Given the description of an element on the screen output the (x, y) to click on. 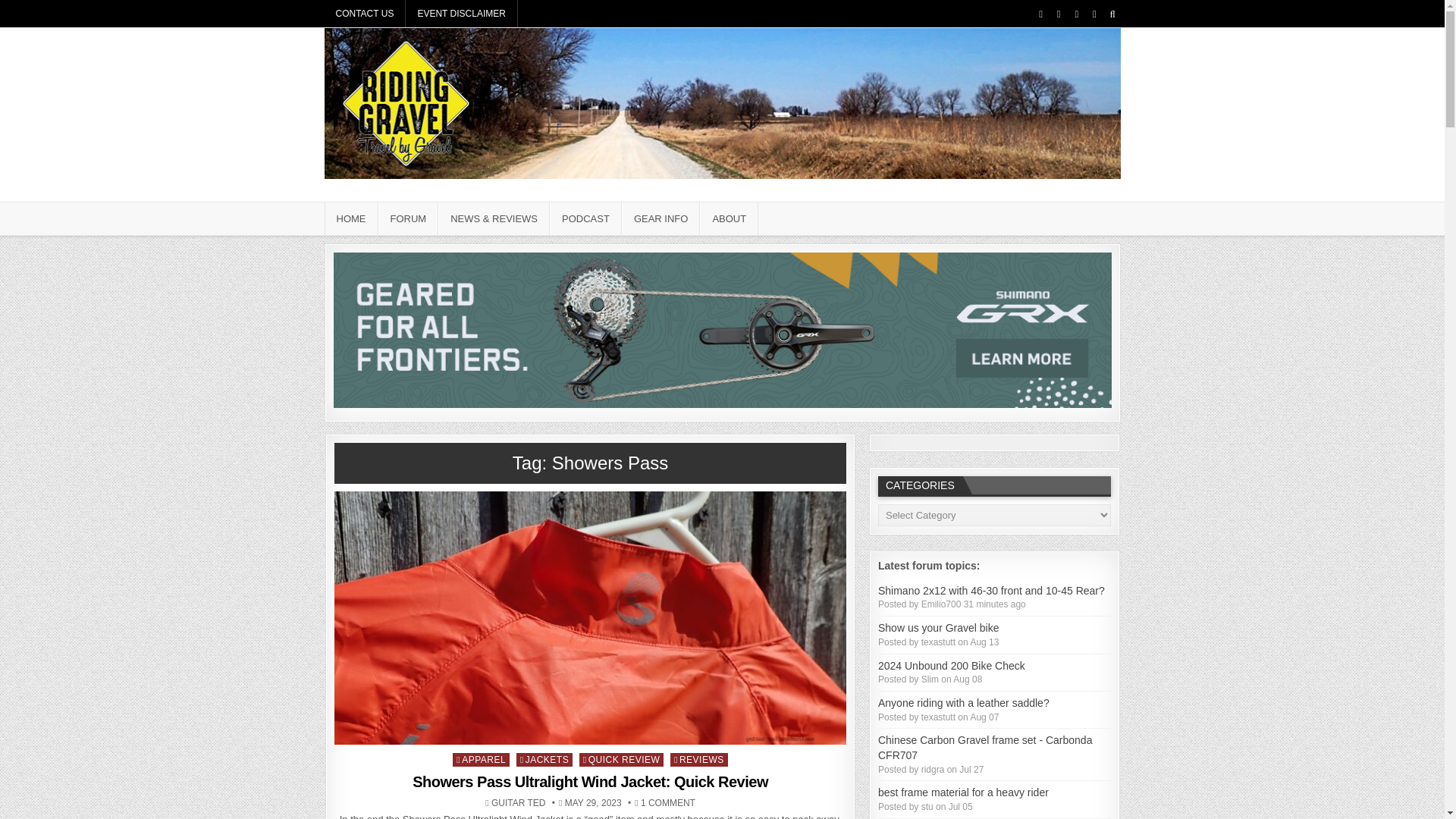
QUICK REVIEW (621, 759)
FORUM (407, 218)
HOME (351, 218)
Riding Gravel (378, 198)
Facebook (1040, 13)
REVIEWS (698, 759)
APPAREL (480, 759)
GUITAR TED (519, 802)
GEAR INFO (660, 218)
1 COMMENT (667, 802)
